Given the description of an element on the screen output the (x, y) to click on. 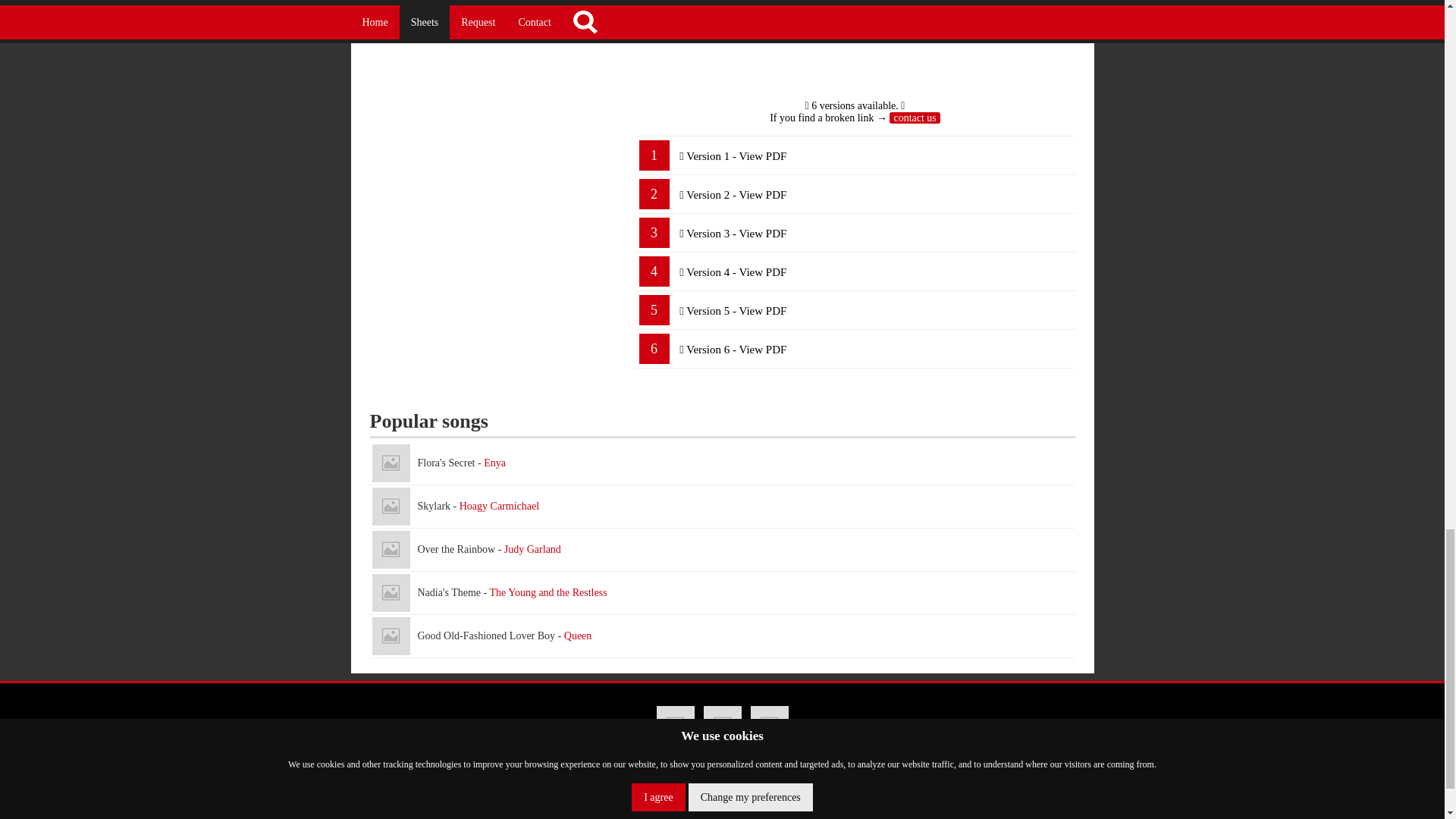
Skylark - Hoagy Carmichael (722, 506)
contact us (914, 117)
BossPianoSheets.com on Twitter (722, 724)
Over the Rainbow - Judy Garland (390, 549)
Nadia's Theme - The Young and the Restless (390, 592)
Nadia's Theme - The Young and the Restless (722, 593)
Over the Rainbow - Judy Garland (722, 549)
Flora's Secret - Enya (722, 463)
Flora's Secret - Enya (390, 463)
Good Old-Fashioned Lover Boy - Queen (390, 636)
